Given the description of an element on the screen output the (x, y) to click on. 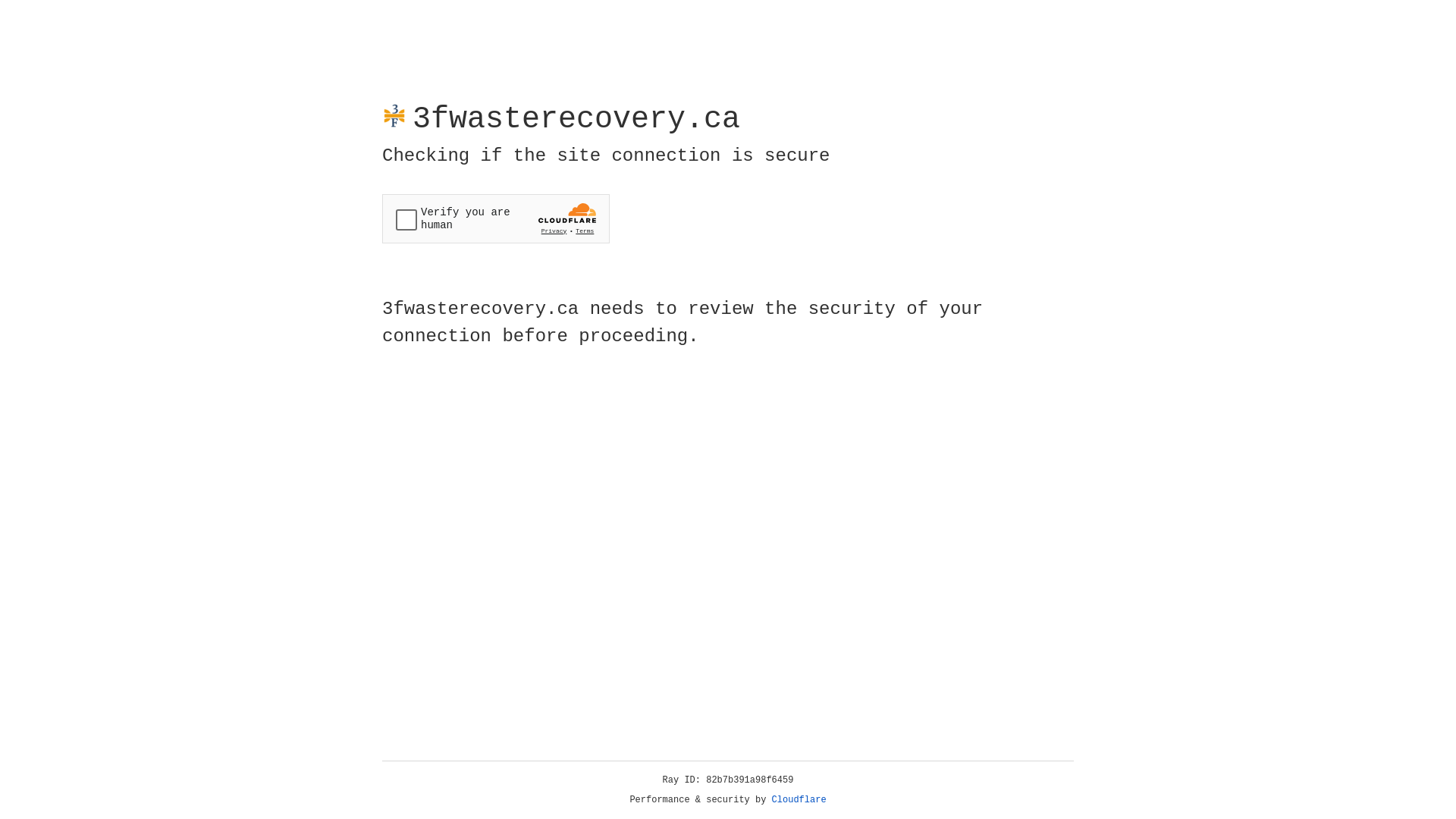
Cloudflare Element type: text (798, 799)
Widget containing a Cloudflare security challenge Element type: hover (495, 218)
